Given the description of an element on the screen output the (x, y) to click on. 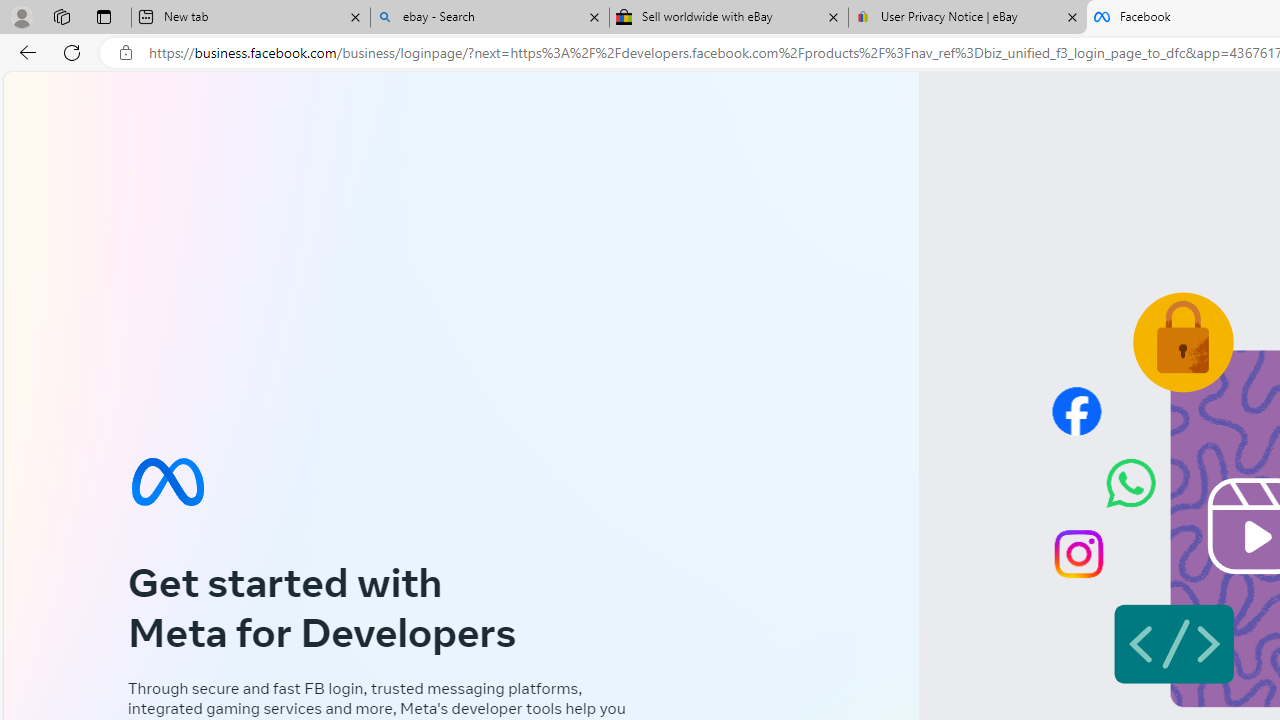
User Privacy Notice | eBay (967, 17)
ebay - Search (490, 17)
Sell worldwide with eBay (729, 17)
Meta symbol (167, 481)
